Given the description of an element on the screen output the (x, y) to click on. 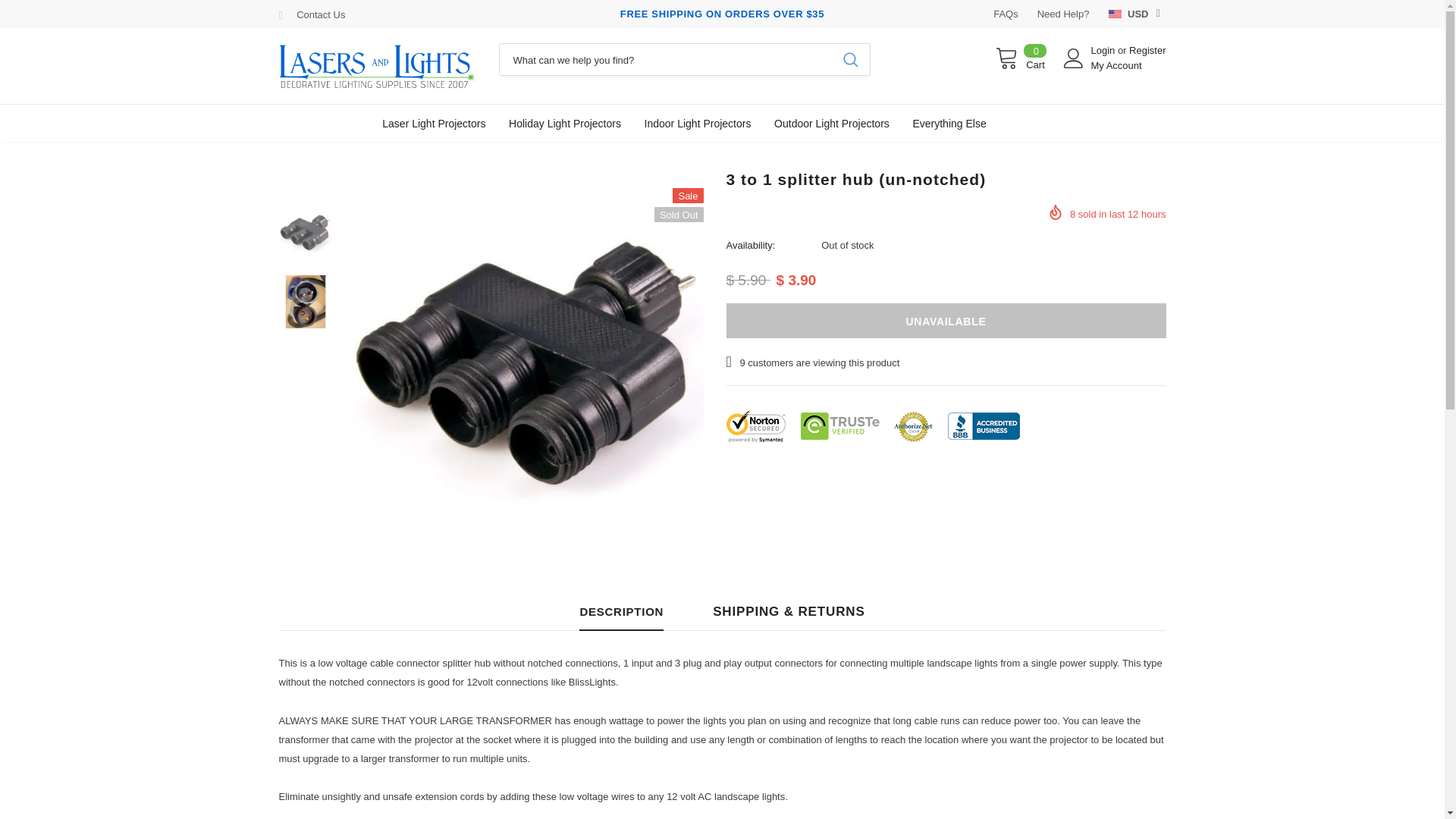
FAQs (1004, 13)
Logo (377, 65)
Need Help? (1062, 13)
Contact Us (321, 14)
Unavailable (946, 320)
Ask An Expert (321, 14)
